Given the description of an element on the screen output the (x, y) to click on. 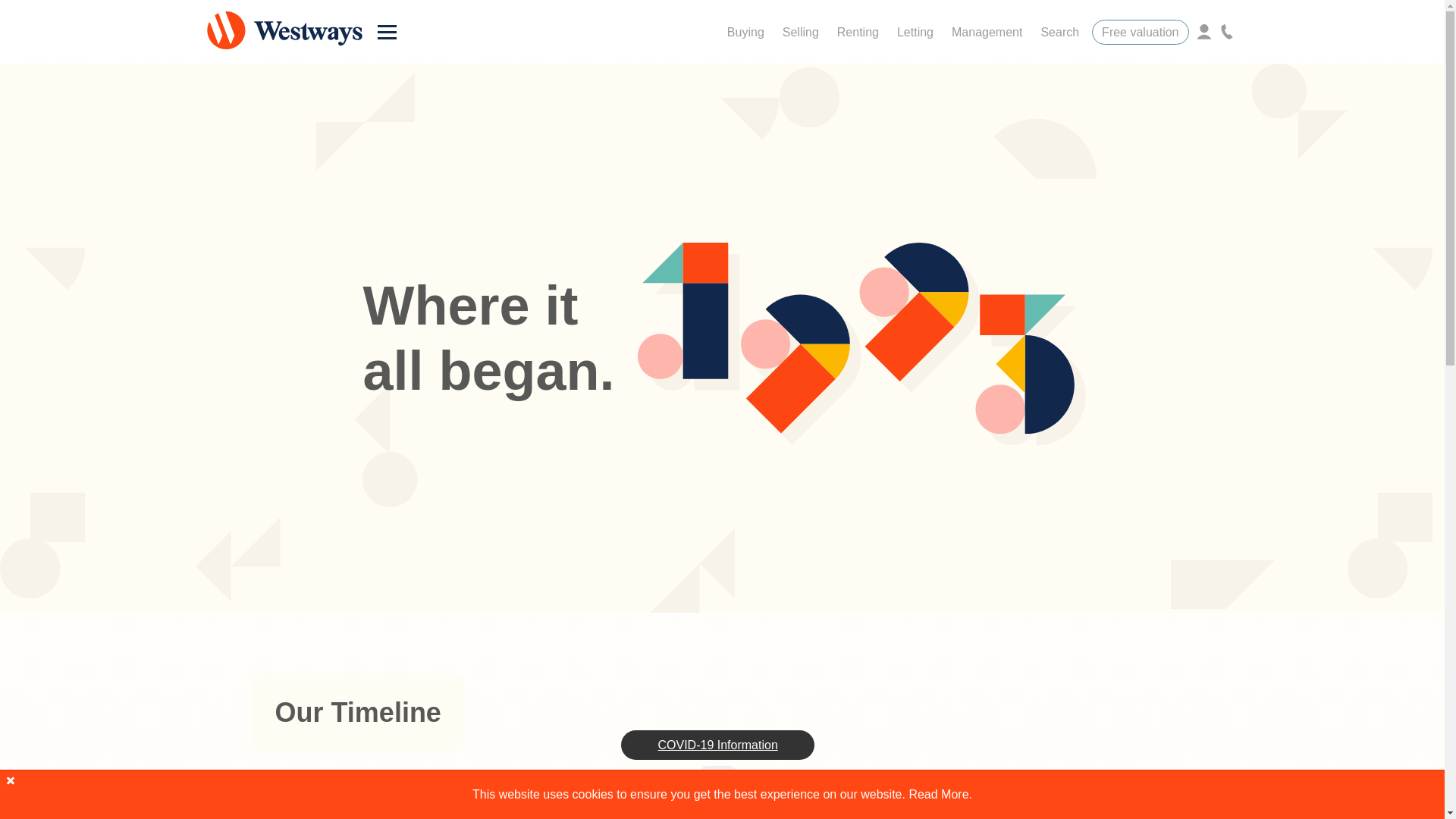
Selling (800, 31)
Management (986, 31)
Buying (745, 31)
Free valuation (1140, 32)
COVID-19 Information (717, 745)
Letting (915, 31)
Hide (717, 773)
Renting (858, 31)
Search (1058, 31)
